Given the description of an element on the screen output the (x, y) to click on. 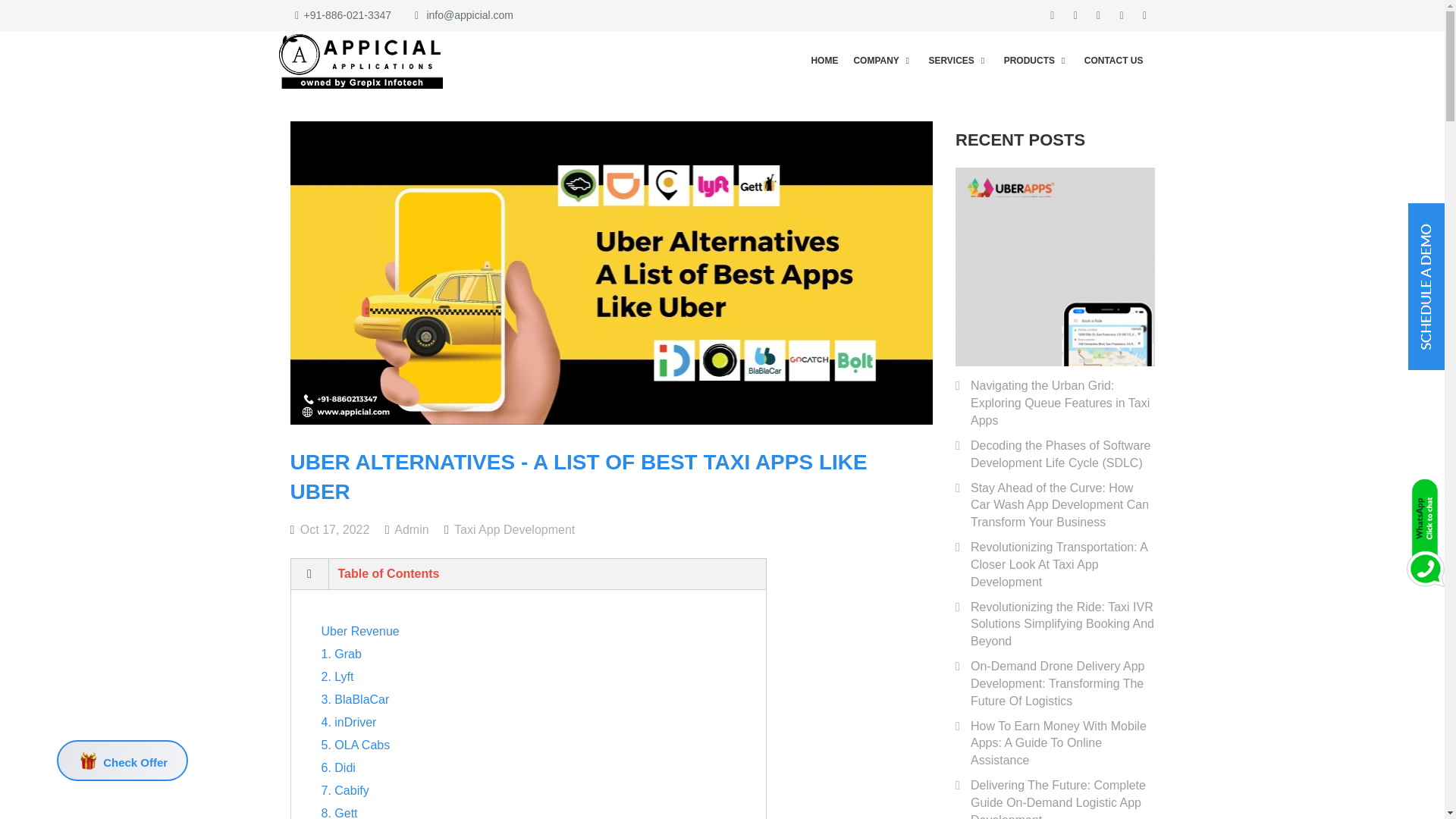
Twitter (1074, 15)
SERVICES (957, 60)
Instagram (1121, 15)
PRODUCTS (1036, 60)
LinkedIn (1098, 15)
